Given the description of an element on the screen output the (x, y) to click on. 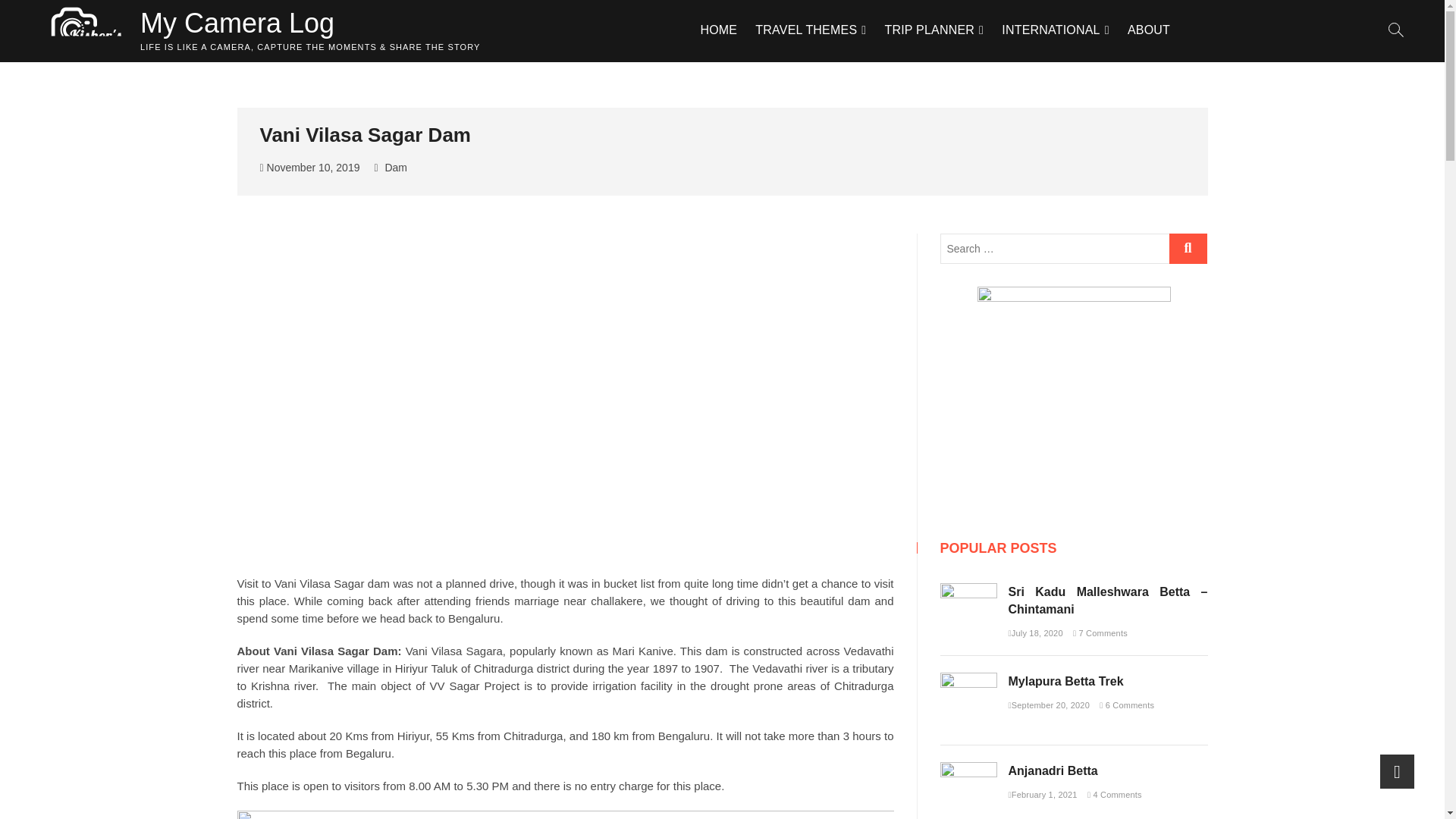
ABOUT (1148, 30)
HOME (718, 30)
TRIP PLANNER (933, 30)
July 18, 2020 (1035, 633)
September 20, 2020 (1049, 705)
February 1, 2021 (1043, 794)
Mylapura Betta Trek (968, 680)
My Camera Log (309, 23)
November 10, 2019 (309, 167)
TRAVEL THEMES (810, 30)
